Given the description of an element on the screen output the (x, y) to click on. 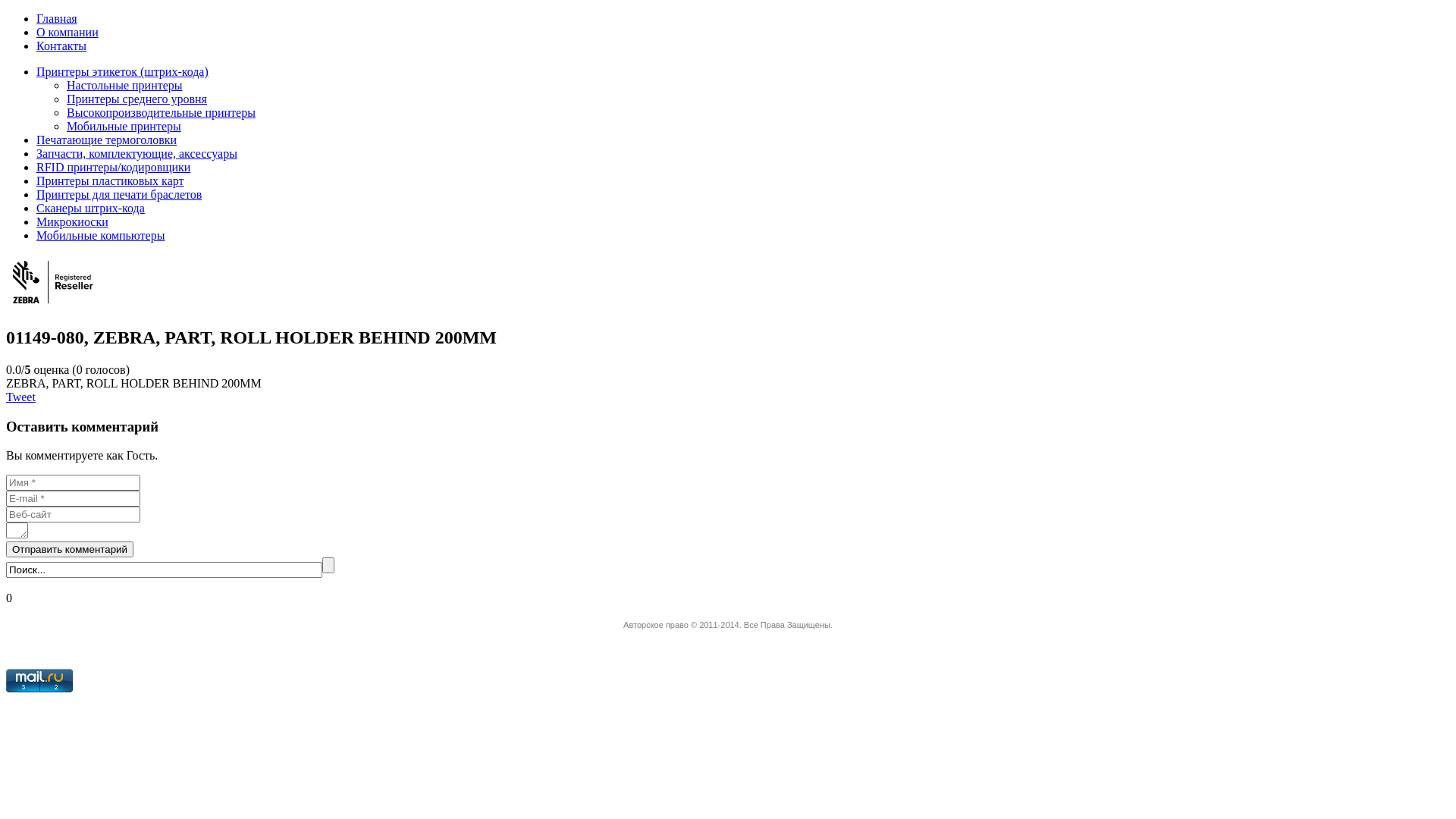
Tweet Element type: text (20, 396)
